Given the description of an element on the screen output the (x, y) to click on. 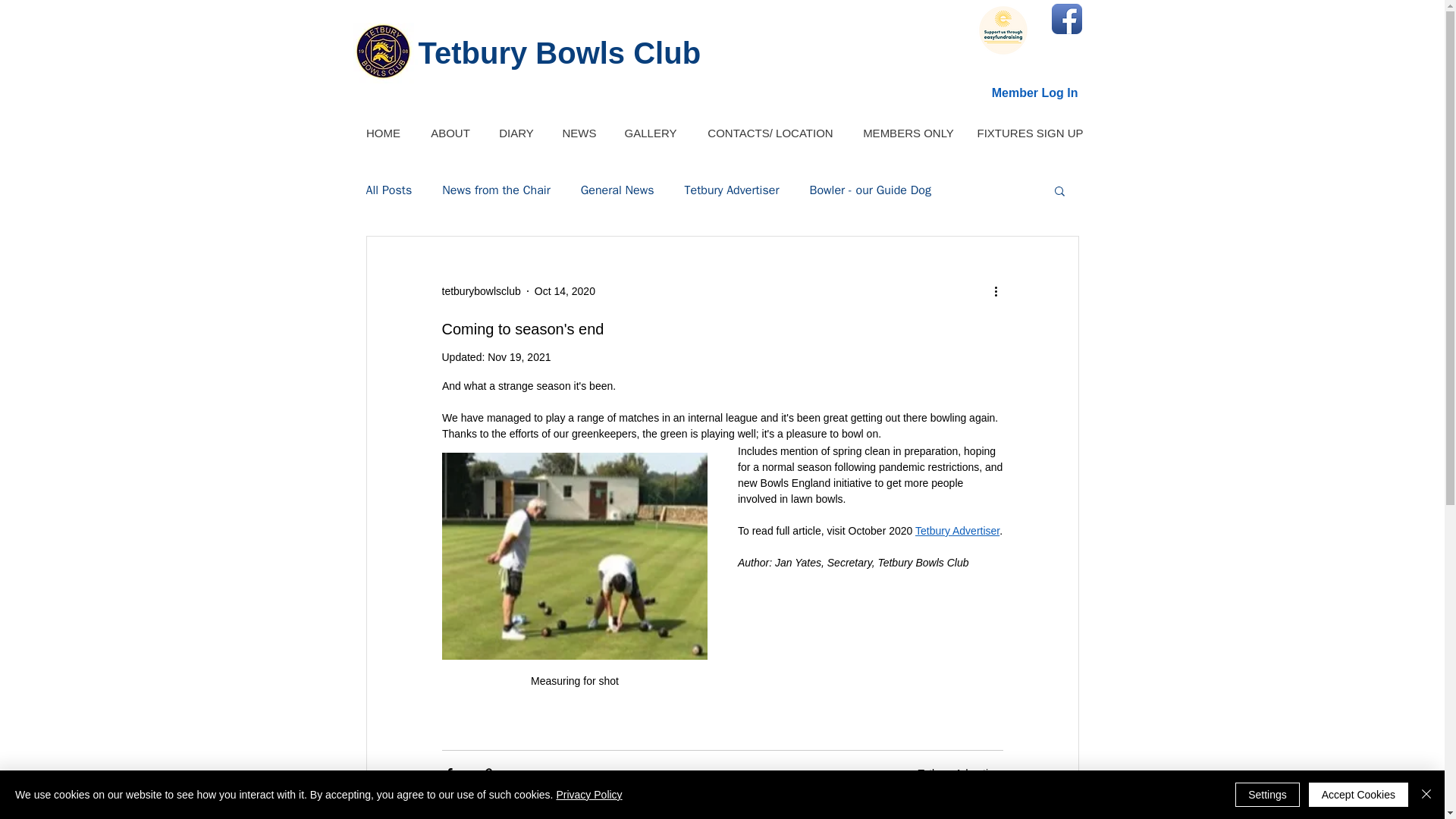
All Posts (388, 189)
Oct 14, 2020 (564, 291)
GALLERY (650, 133)
News from the Chair (496, 189)
Tetbury Advertiser (731, 189)
ABOUT (450, 133)
Bowler - our Guide Dog (869, 189)
FIXTURES SIGN UP (1030, 133)
Member Log In (1035, 93)
General News (616, 189)
NEWS (578, 133)
MEMBERS ONLY (909, 133)
Nov 19, 2021 (518, 357)
tetburybowlsclub (480, 291)
tetburybowlsclub (480, 291)
